Given the description of an element on the screen output the (x, y) to click on. 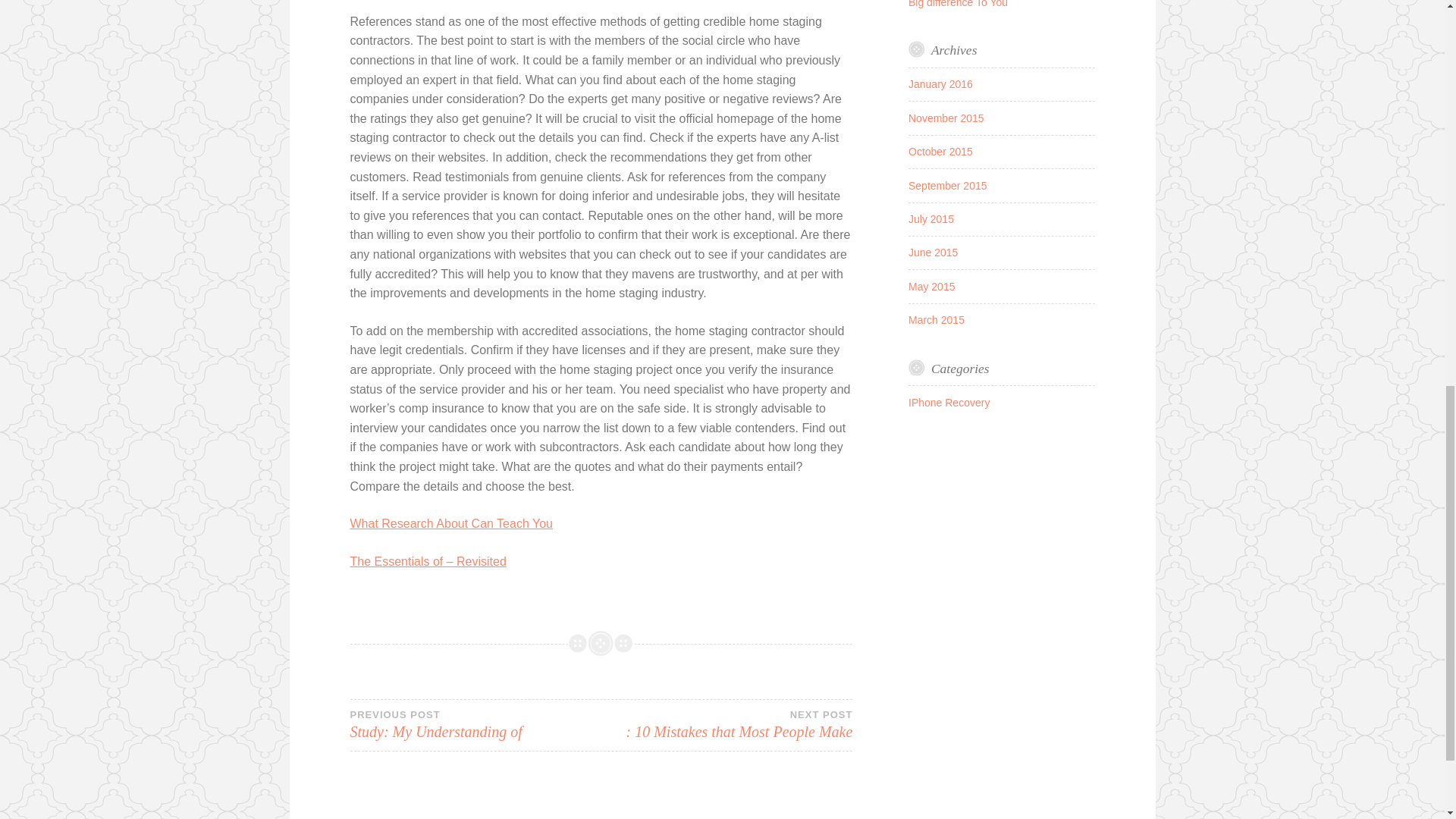
March 2015 (726, 724)
October 2015 (935, 319)
June 2015 (940, 151)
The Iphone And How It Can Make A Big difference To You (933, 252)
September 2015 (992, 3)
July 2015 (475, 724)
IPhone Recovery (947, 185)
January 2016 (930, 218)
